Given the description of an element on the screen output the (x, y) to click on. 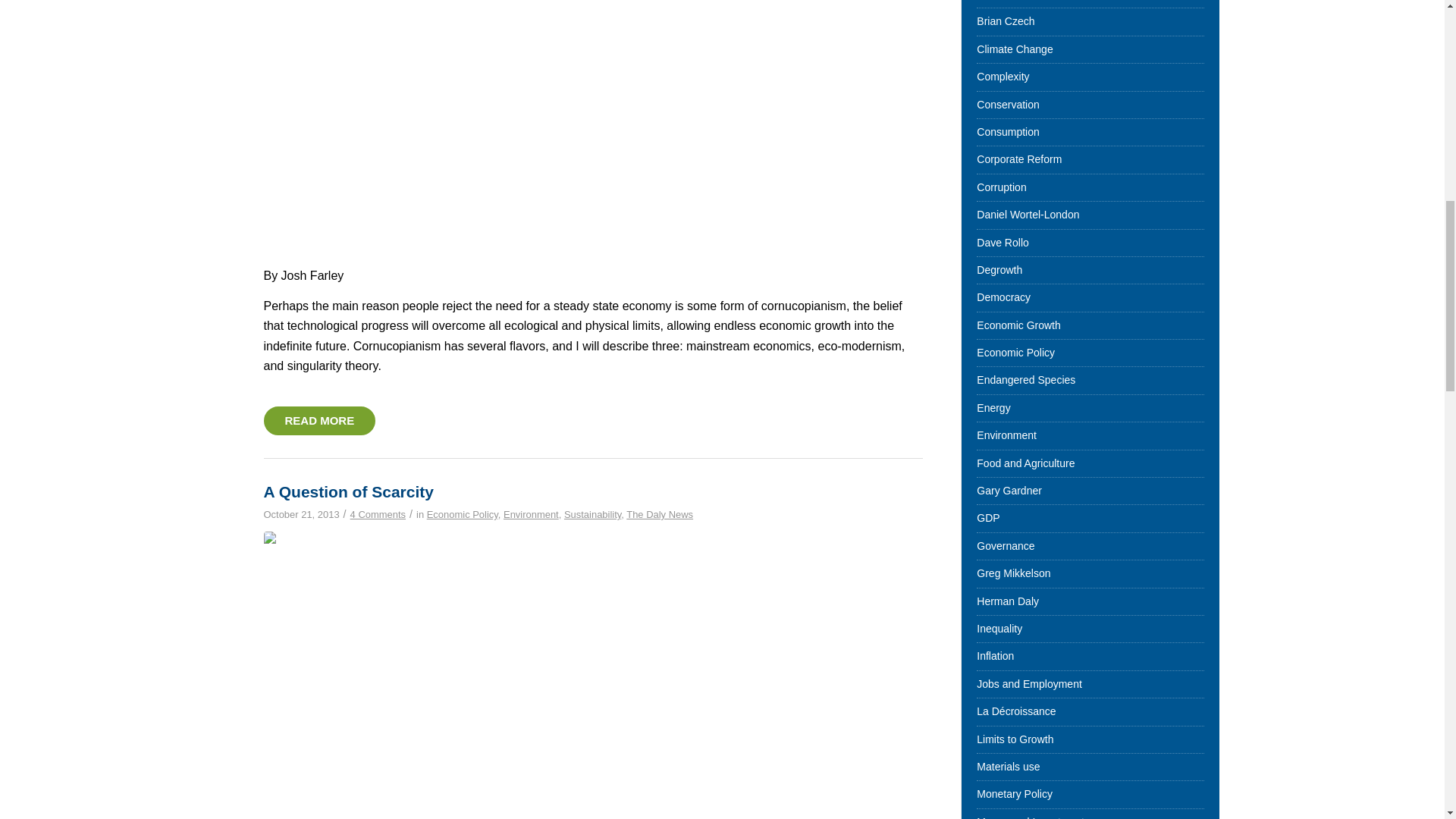
Environment (531, 514)
4 Comments (378, 514)
The Daly News (659, 514)
Sustainability (592, 514)
READ MORE (319, 420)
A Question of Scarcity (348, 491)
Economic Policy (461, 514)
Permanent Link: A Question of Scarcity (348, 491)
